Given the description of an element on the screen output the (x, y) to click on. 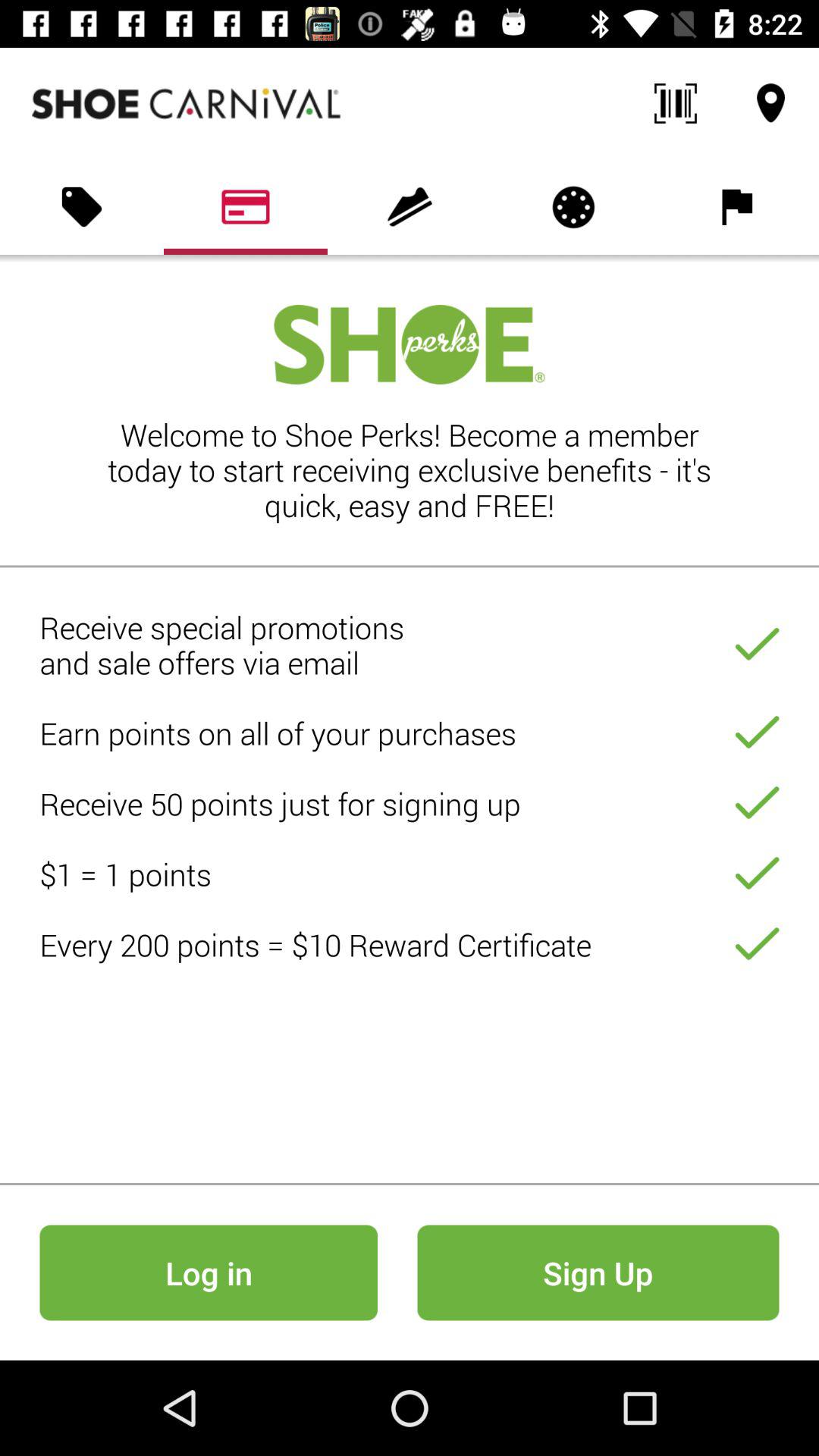
turn on the log in item (208, 1272)
